Given the description of an element on the screen output the (x, y) to click on. 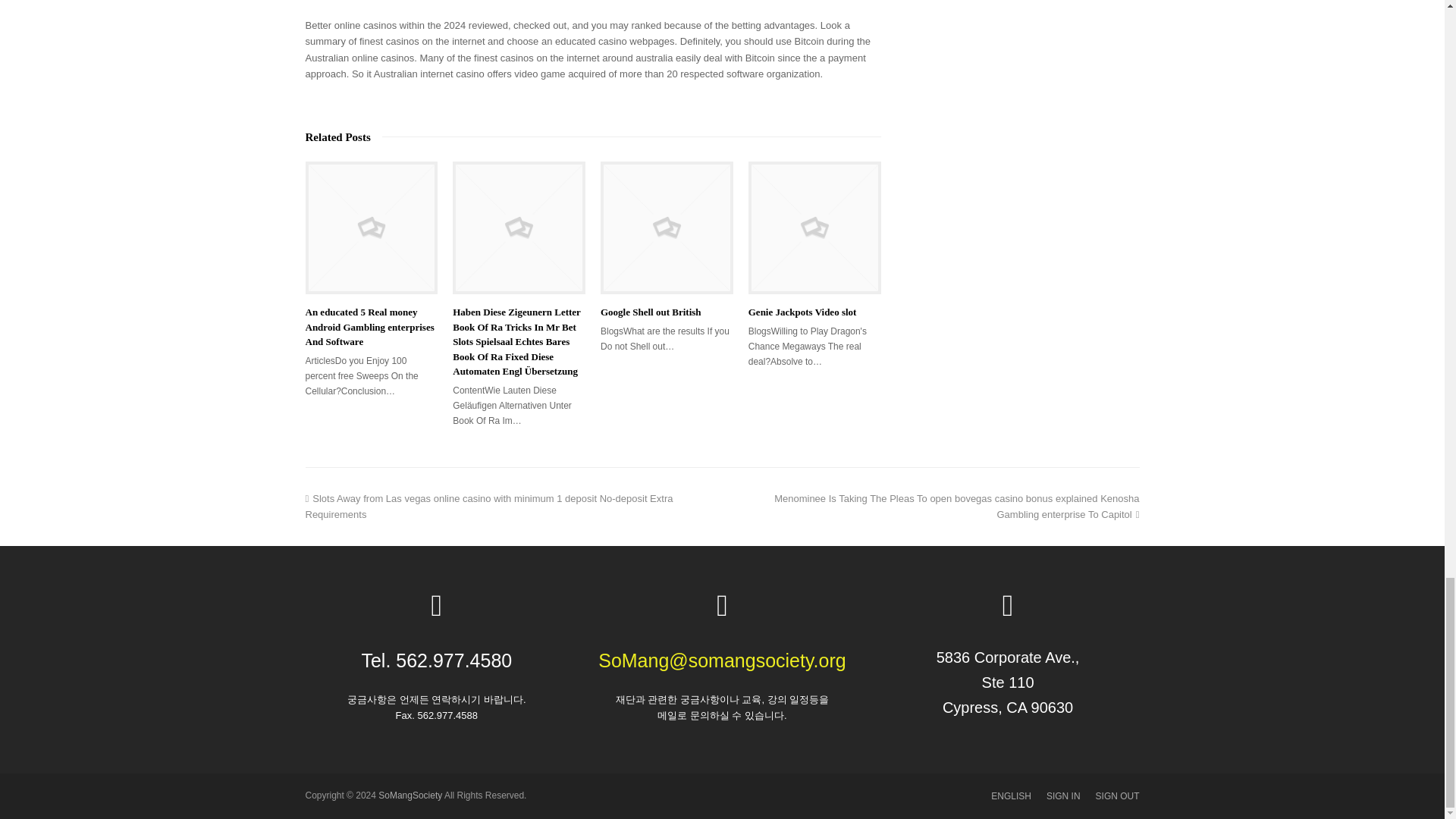
Google Shell out British (666, 227)
Genie Jackpots Video slot (814, 227)
